Given the description of an element on the screen output the (x, y) to click on. 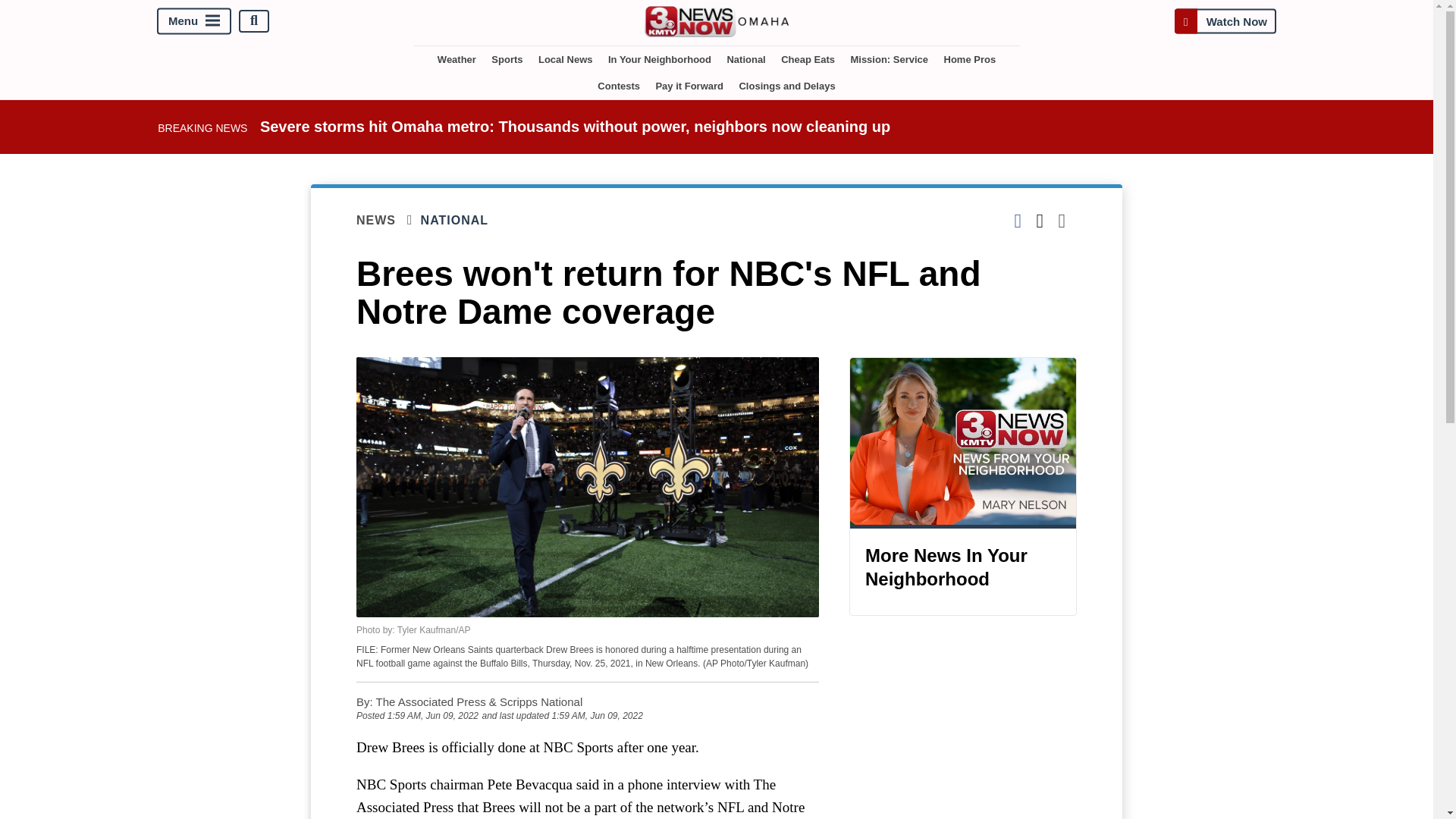
Menu (194, 20)
Watch Now (1224, 20)
